Given the description of an element on the screen output the (x, y) to click on. 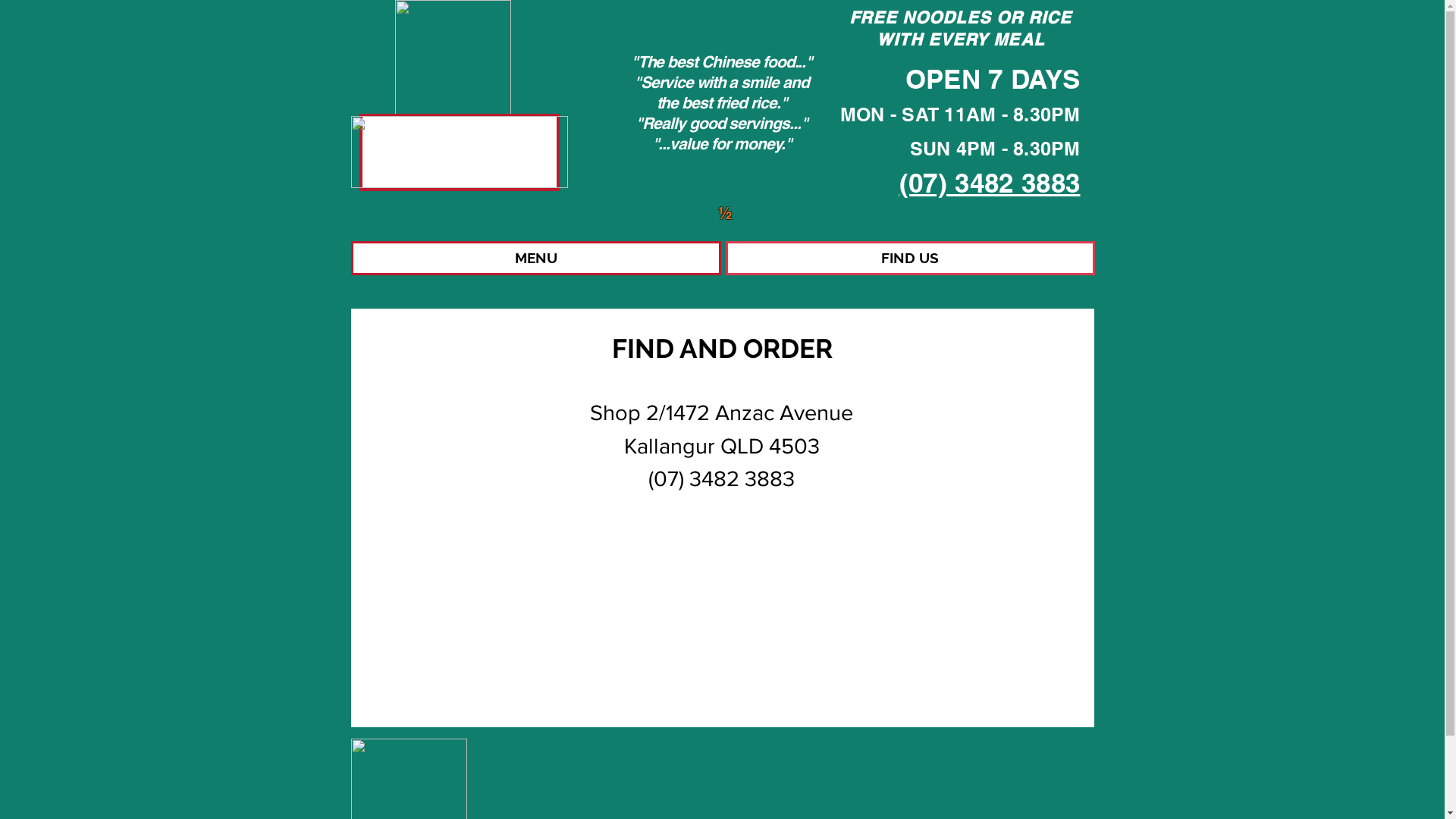
FIND US Element type: text (909, 258)
Google Maps Element type: hover (722, 624)
MENU Element type: text (535, 258)
